Given the description of an element on the screen output the (x, y) to click on. 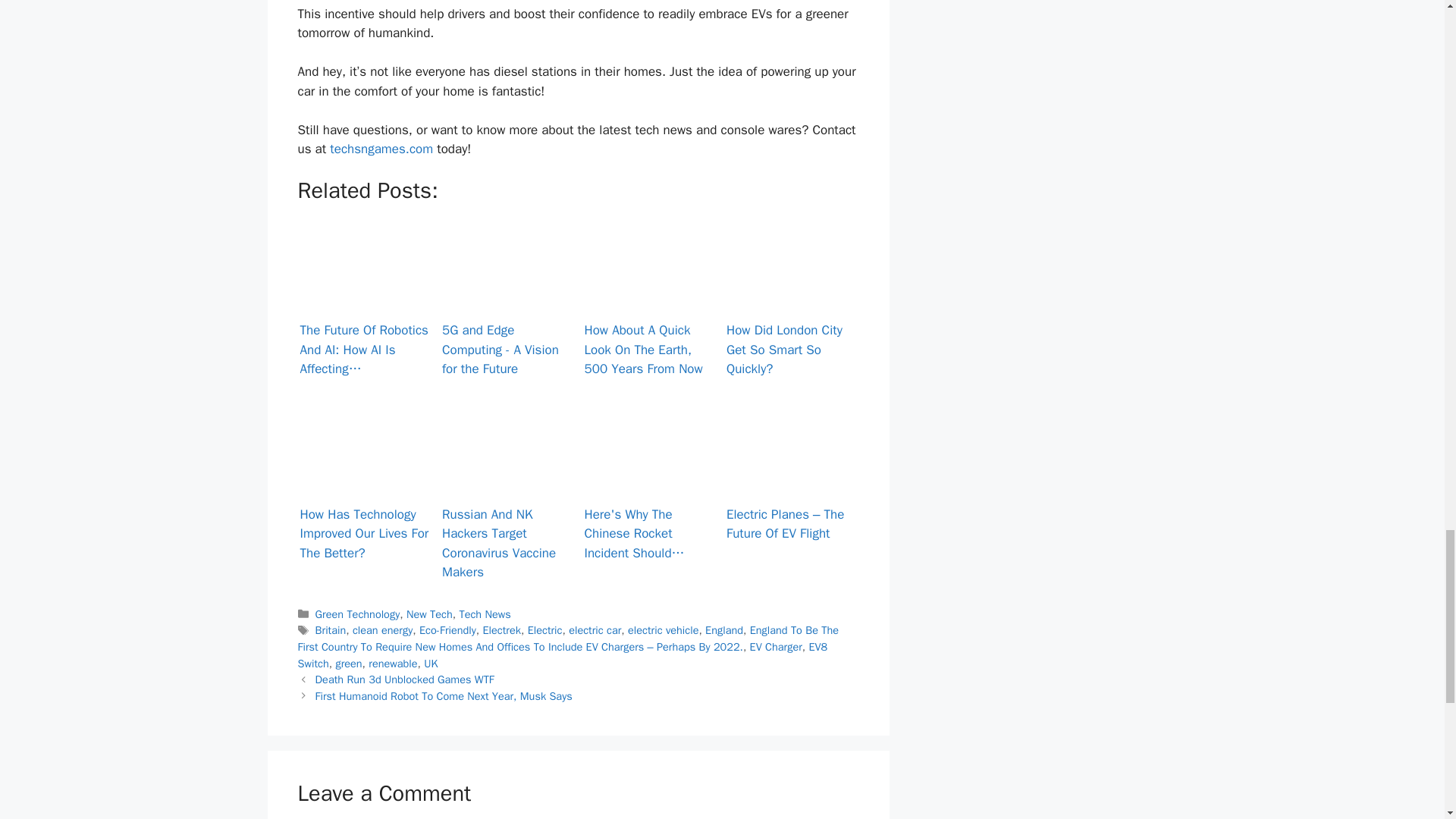
How About A Quick Look On The Earth, 500 Years From Now (649, 264)
5G and Edge Computing - A Vision for the Future (506, 244)
How Has Technology Improved Our Lives For The Better? (364, 448)
Russian And NK Hackers Target Coronavirus Vaccine Makers (506, 448)
How Did London City Get So Smart So Quickly? (791, 249)
